Given the description of an element on the screen output the (x, y) to click on. 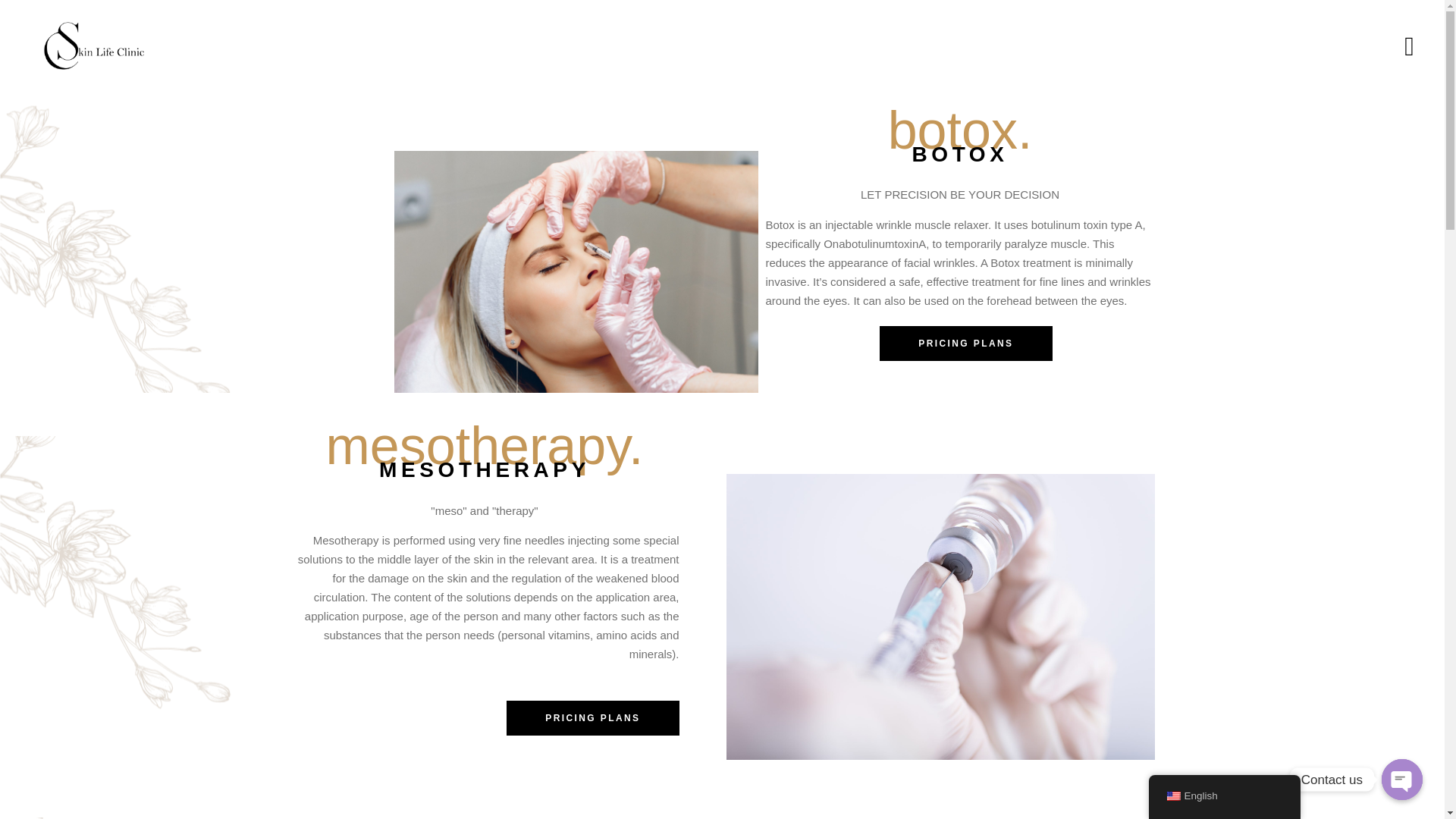
English (1172, 795)
PRICING PLANS (592, 718)
PRICING PLANS (965, 343)
